Given the description of an element on the screen output the (x, y) to click on. 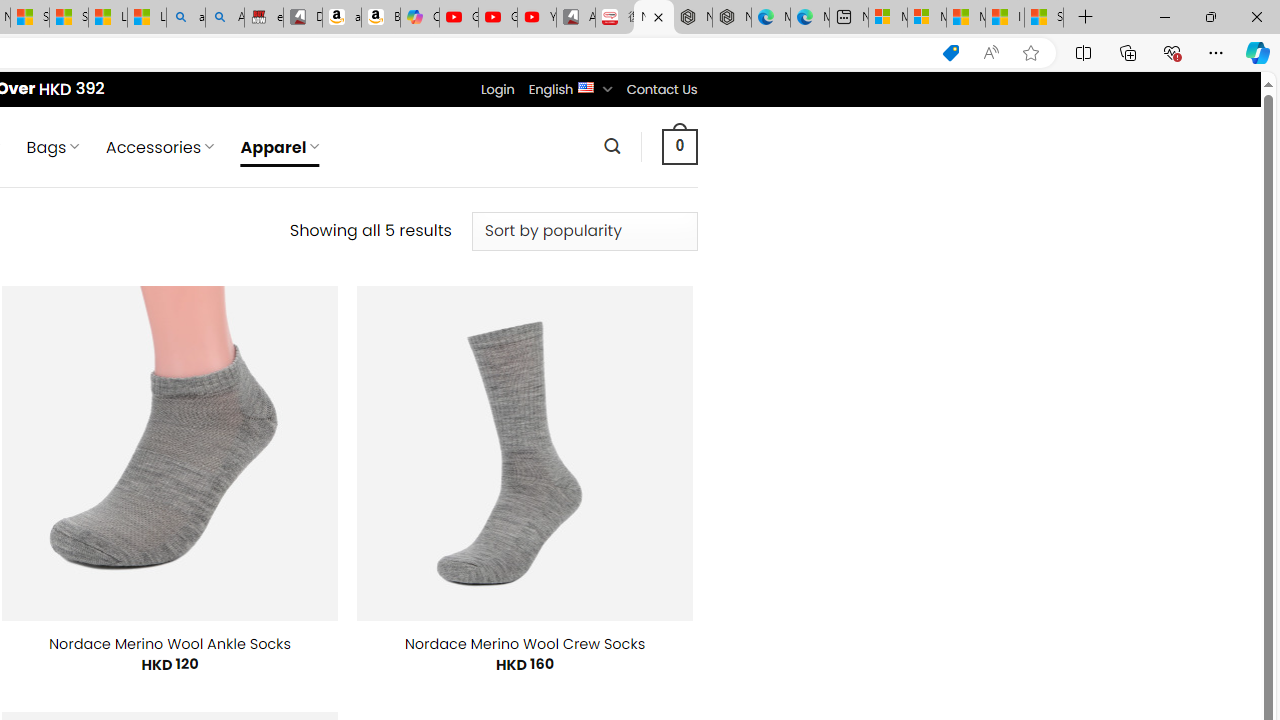
I Gained 20 Pounds of Muscle in 30 Days! | Watch (1004, 17)
